Given the description of an element on the screen output the (x, y) to click on. 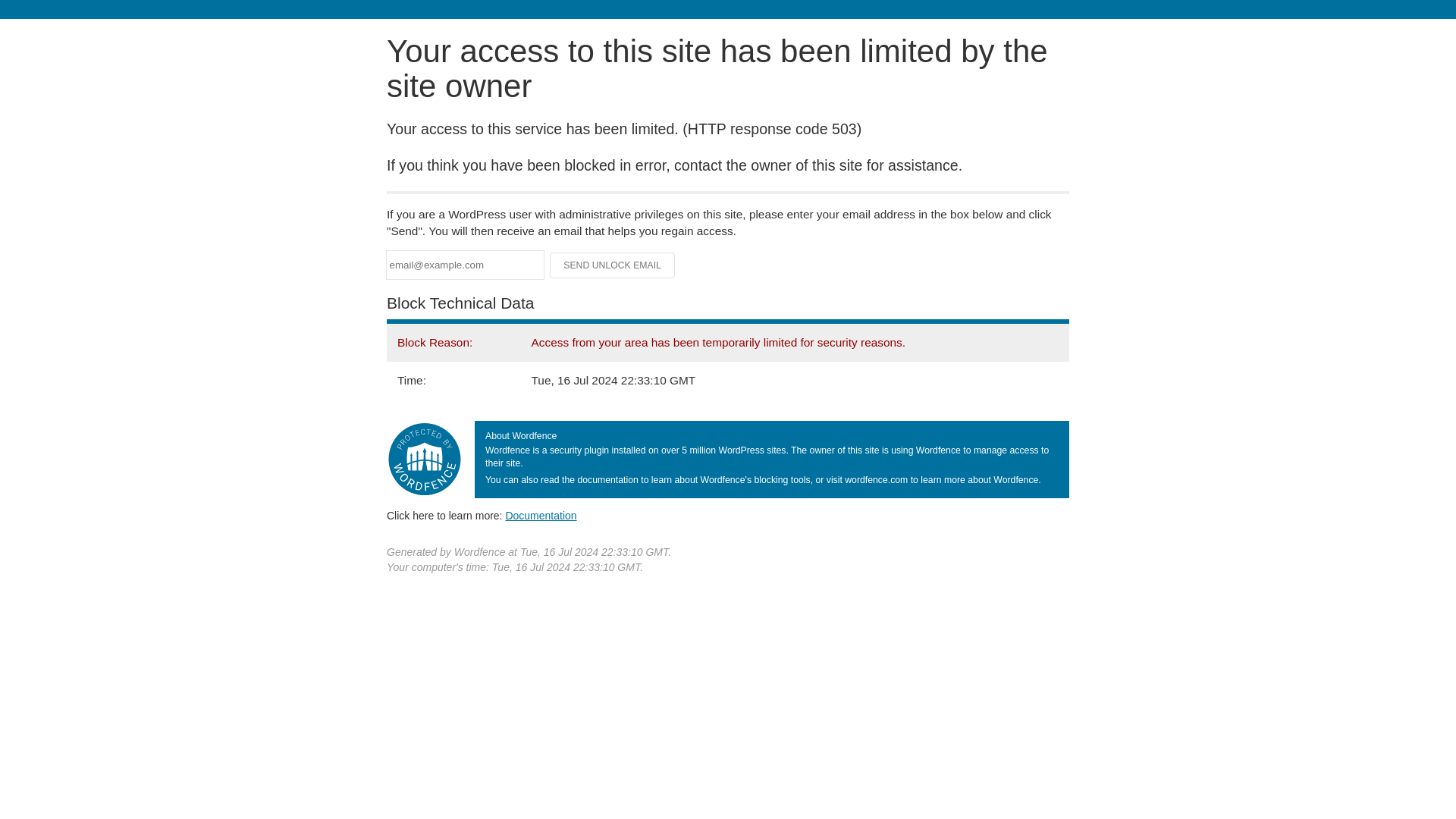
Send Unlock Email (612, 265)
Send Unlock Email (612, 265)
Documentation (540, 515)
